Given the description of an element on the screen output the (x, y) to click on. 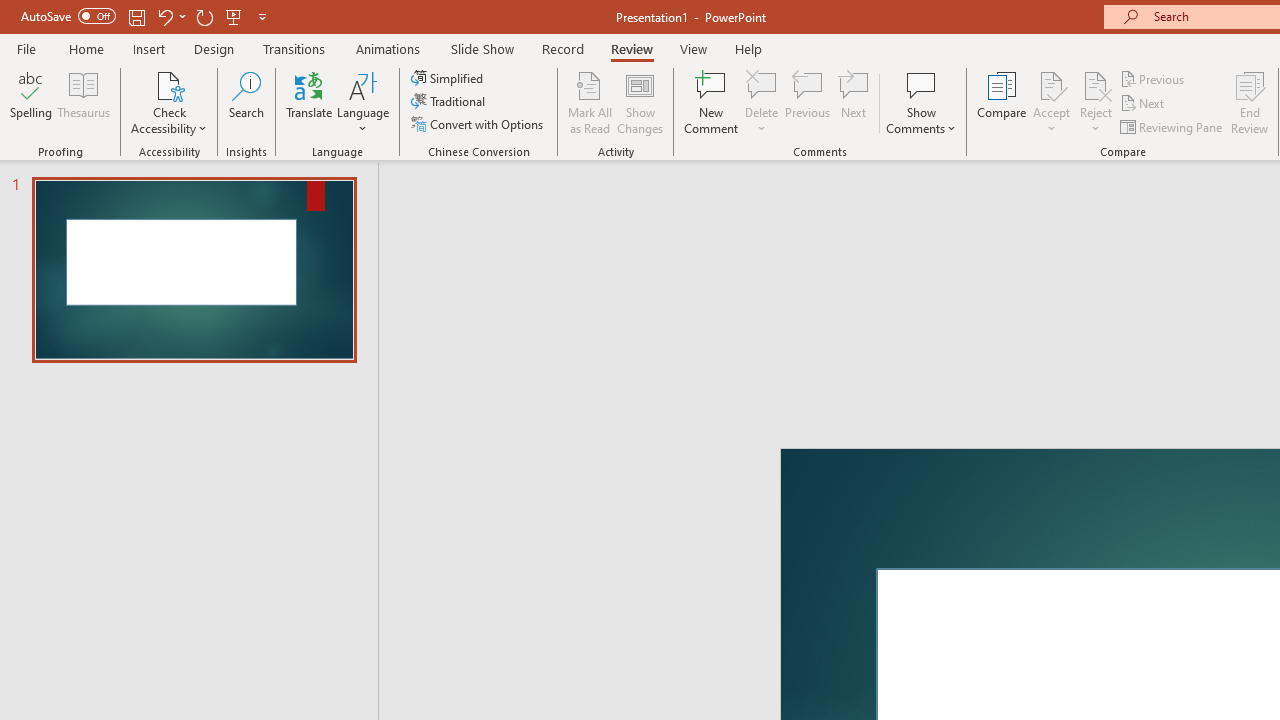
Translate (309, 102)
Reject Change (1096, 84)
Simplified (449, 78)
Convert with Options... (479, 124)
Reviewing Pane (1172, 126)
